Given the description of an element on the screen output the (x, y) to click on. 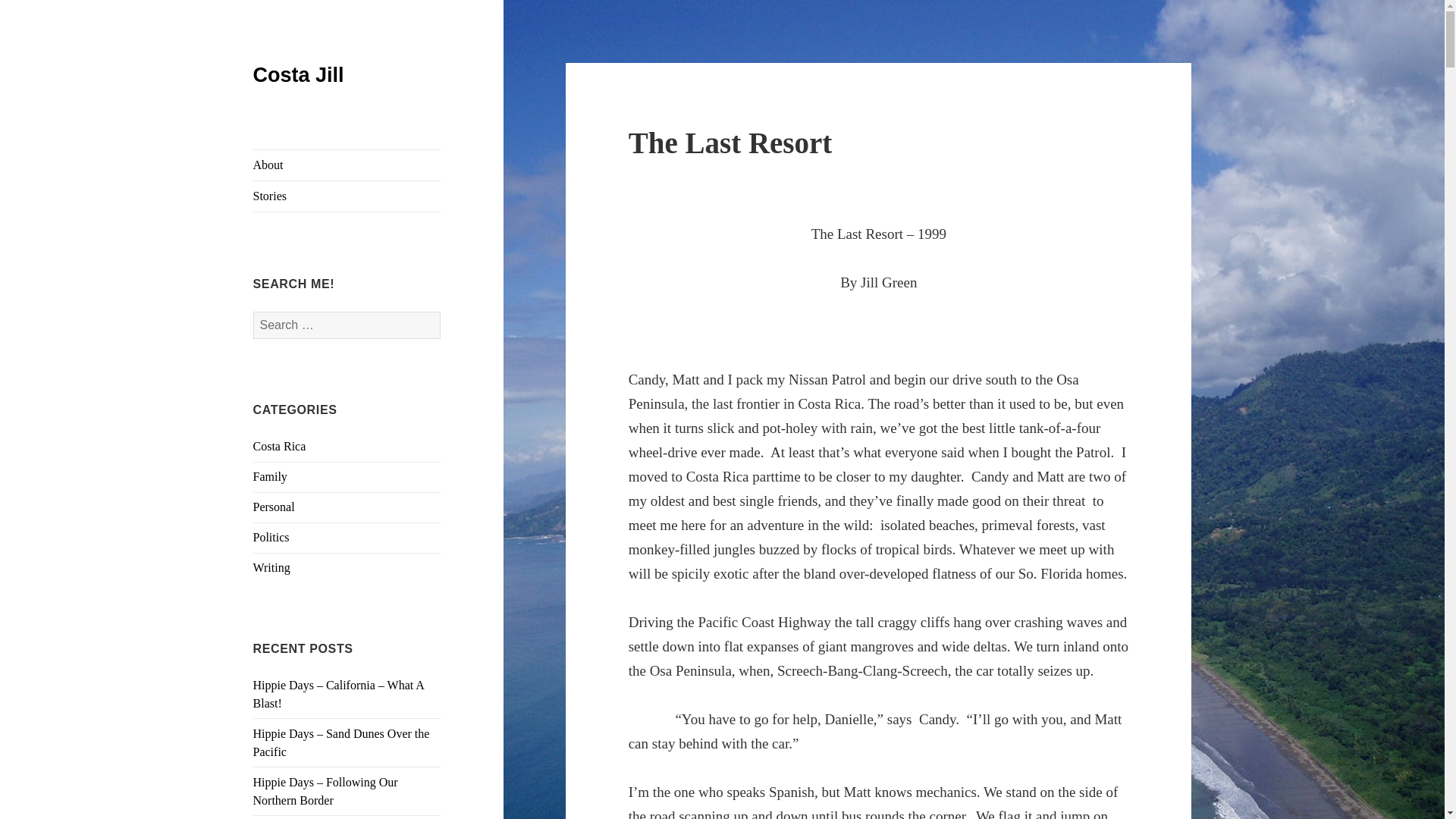
Stories (347, 195)
Personal (274, 506)
Family (269, 476)
Costa Rica (279, 445)
Politics (271, 536)
About (347, 164)
Costa Jill (298, 74)
Writing (271, 567)
